Given the description of an element on the screen output the (x, y) to click on. 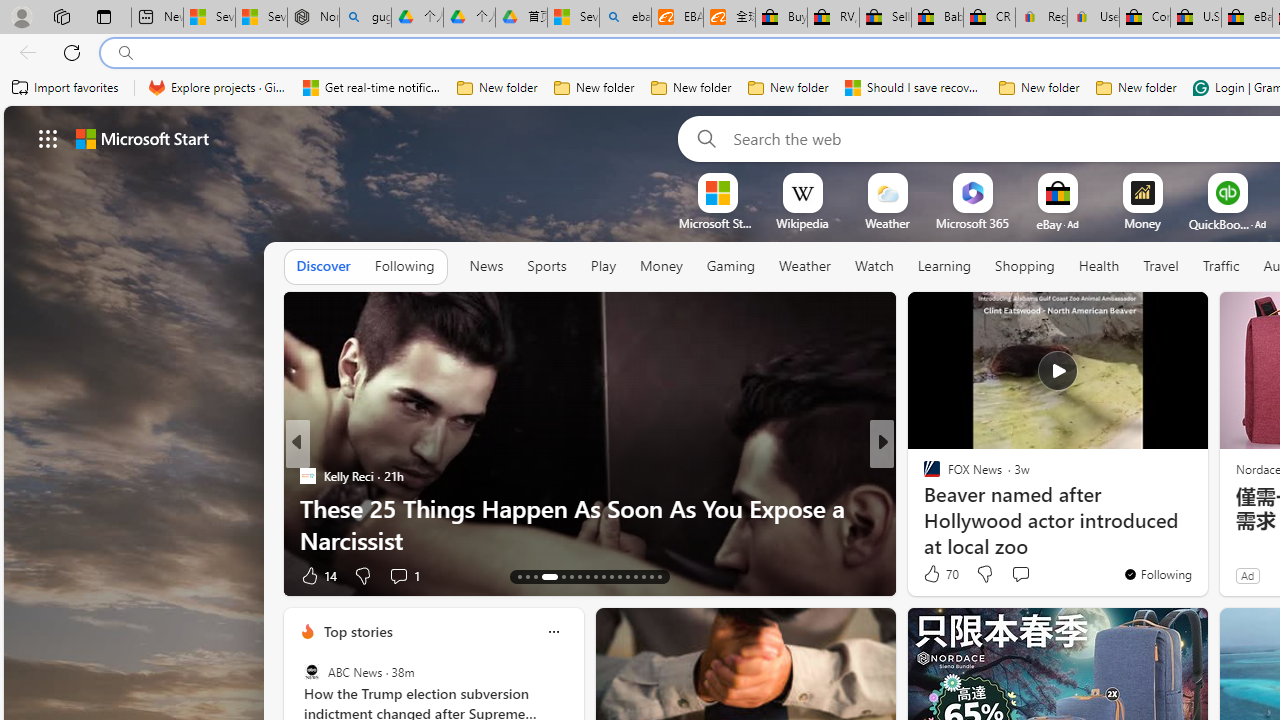
Top stories (357, 631)
You're following FOX News (1157, 573)
AutomationID: tab-19 (578, 576)
AutomationID: tab-34 (650, 576)
Men's Health (923, 475)
BRAINY DOSE (923, 475)
